Given the description of an element on the screen output the (x, y) to click on. 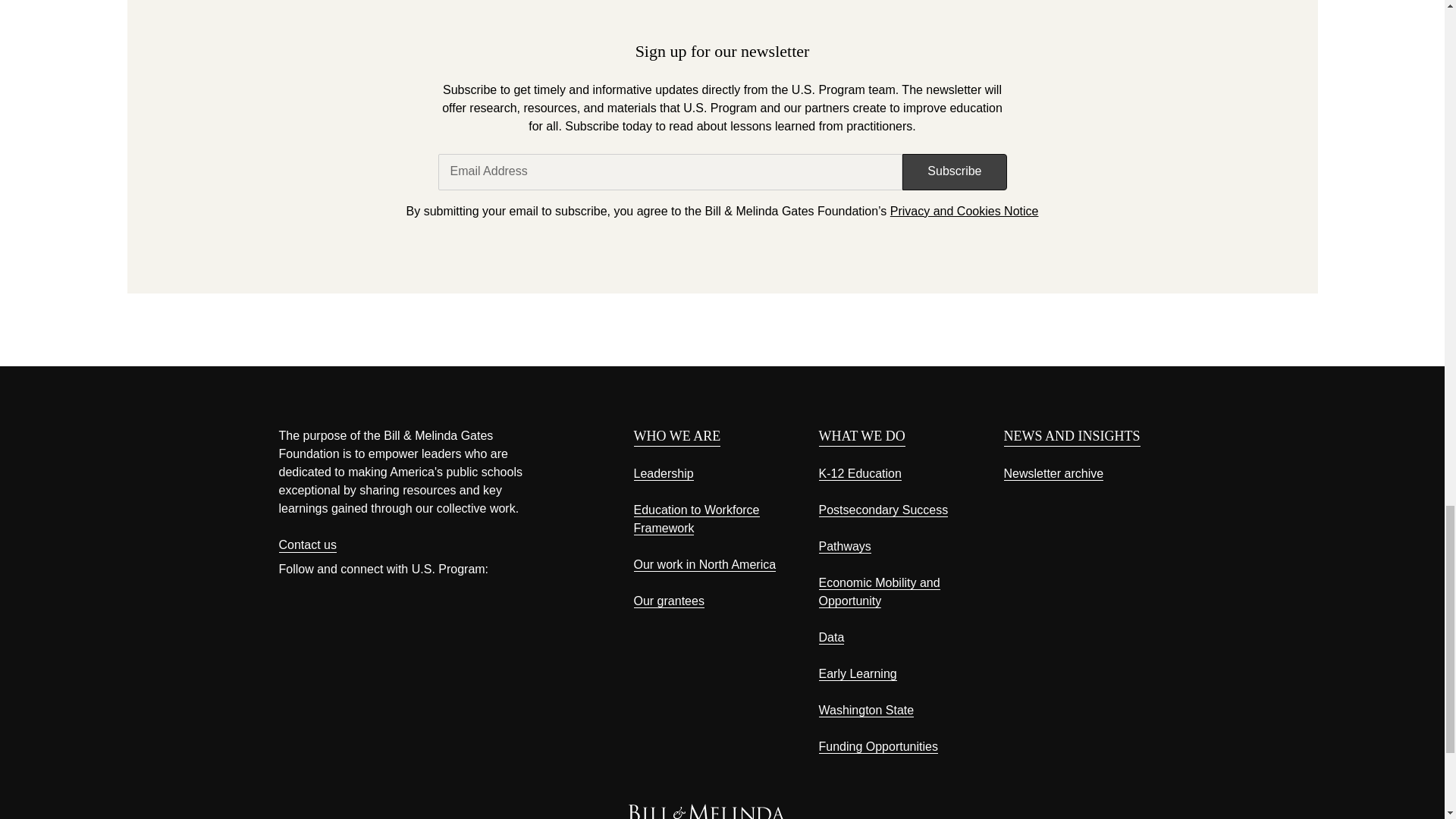
Education to Workforce Framework (696, 519)
Funding Opportunities (877, 746)
Contact us (307, 545)
Pathways (844, 546)
Newsletter archive (1053, 473)
Postsecondary Success (883, 509)
Leadership (663, 473)
Subscribe (954, 171)
K-12 Education (859, 473)
Economic Mobility and Opportunity (879, 592)
